Given the description of an element on the screen output the (x, y) to click on. 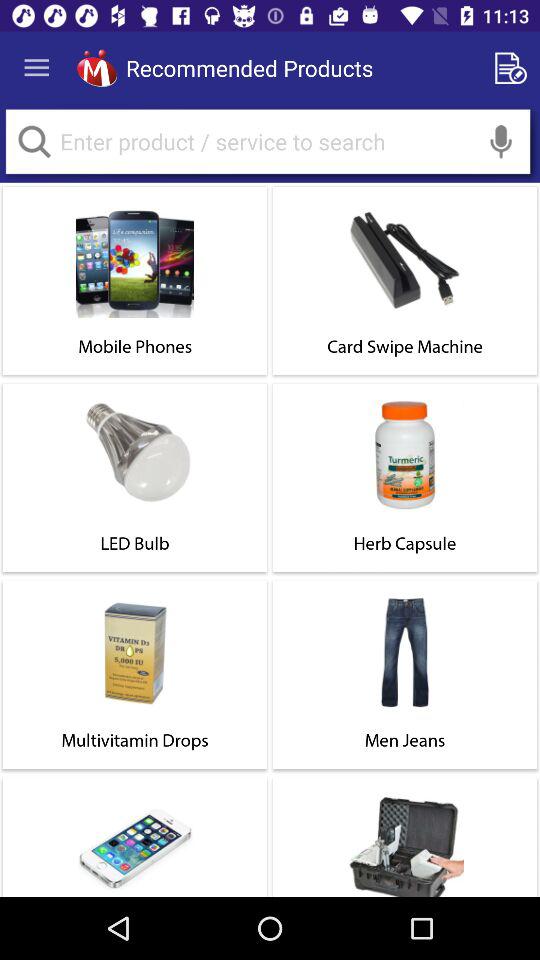
save search edit a search (514, 68)
